Given the description of an element on the screen output the (x, y) to click on. 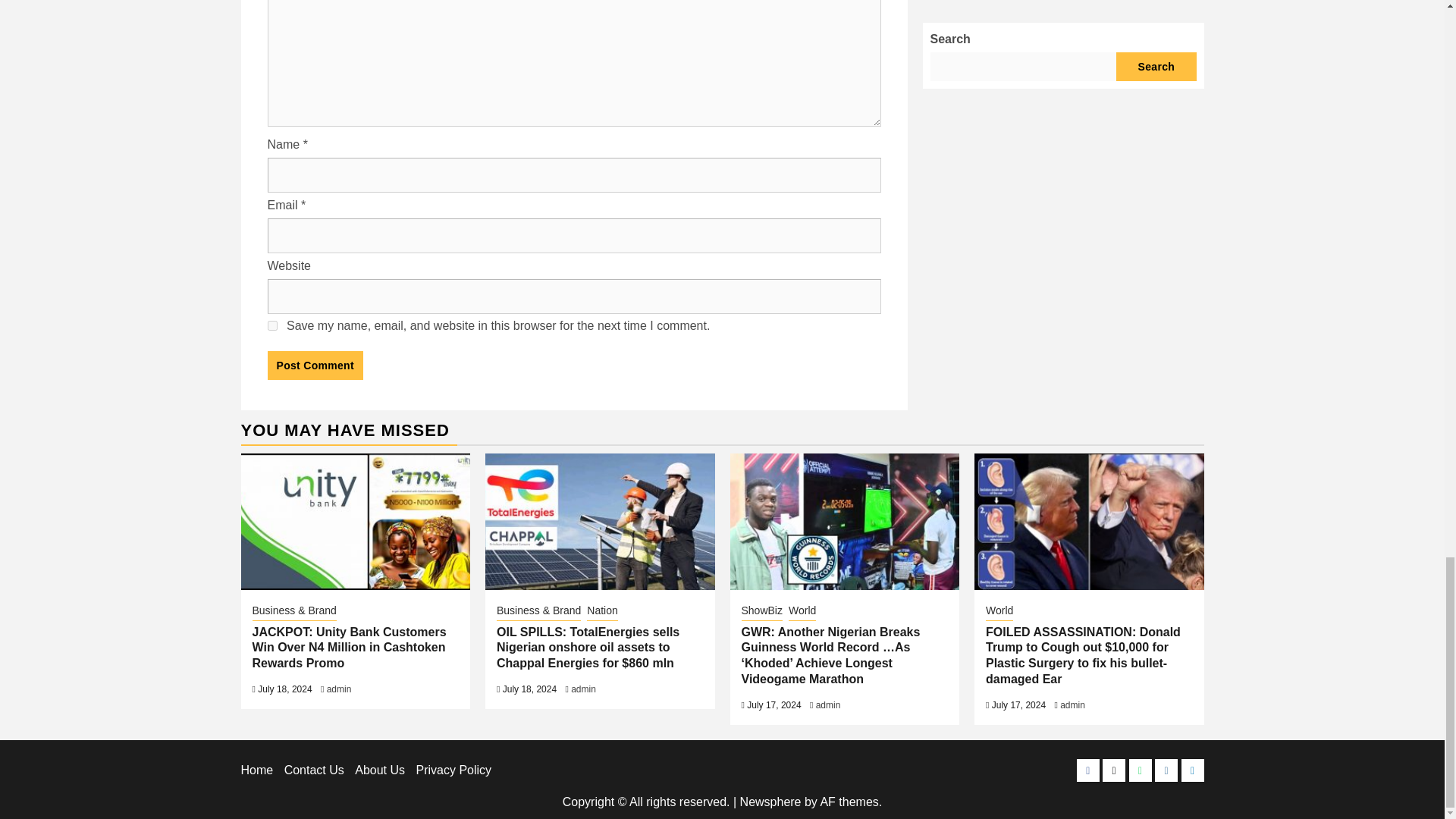
Post Comment (314, 365)
yes (271, 325)
